Given the description of an element on the screen output the (x, y) to click on. 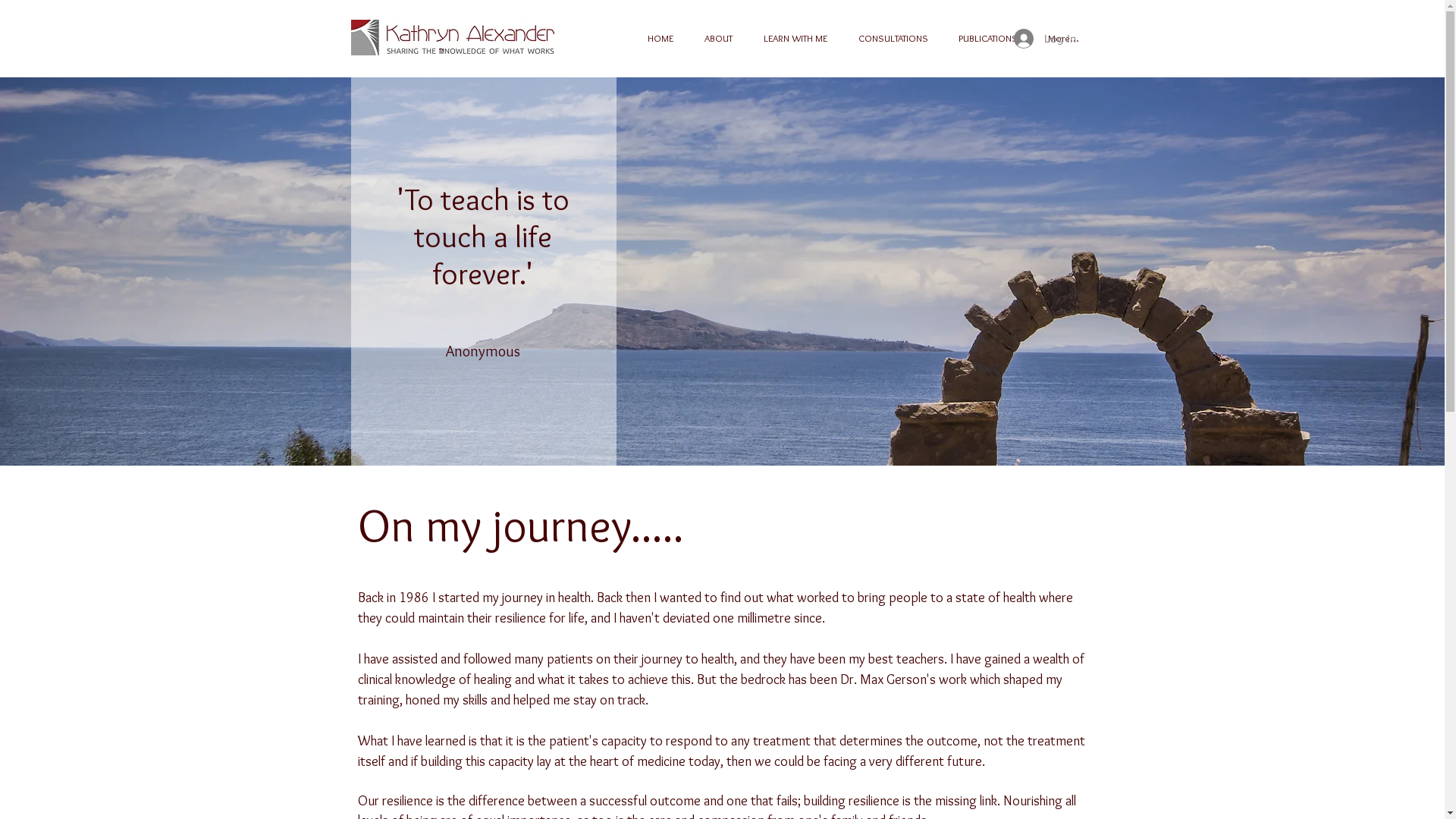
HOME Element type: text (660, 38)
CONSULTATIONS Element type: text (893, 38)
Log In Element type: text (1043, 38)
ABOUT Element type: text (717, 38)
LEARN WITH ME Element type: text (794, 38)
PUBLICATIONS Element type: text (987, 38)
